Given the description of an element on the screen output the (x, y) to click on. 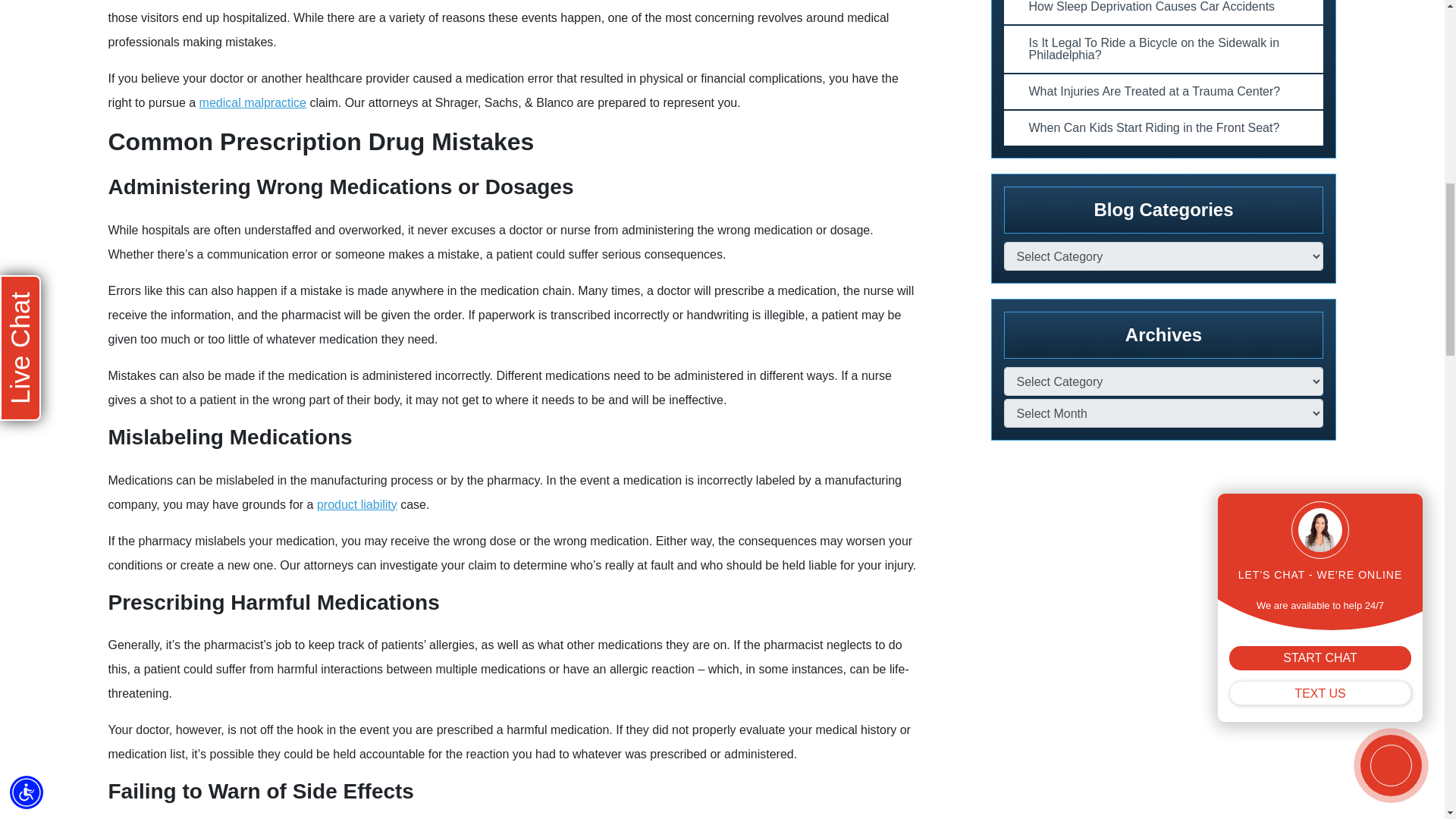
When Can Kids Start Riding in the Front Seat? (1163, 127)
How Sleep Deprivation Causes Car Accidents (1163, 12)
product liability (357, 504)
What Injuries Are Treated at a Trauma Center? (1163, 91)
medical malpractice (252, 102)
